Given the description of an element on the screen output the (x, y) to click on. 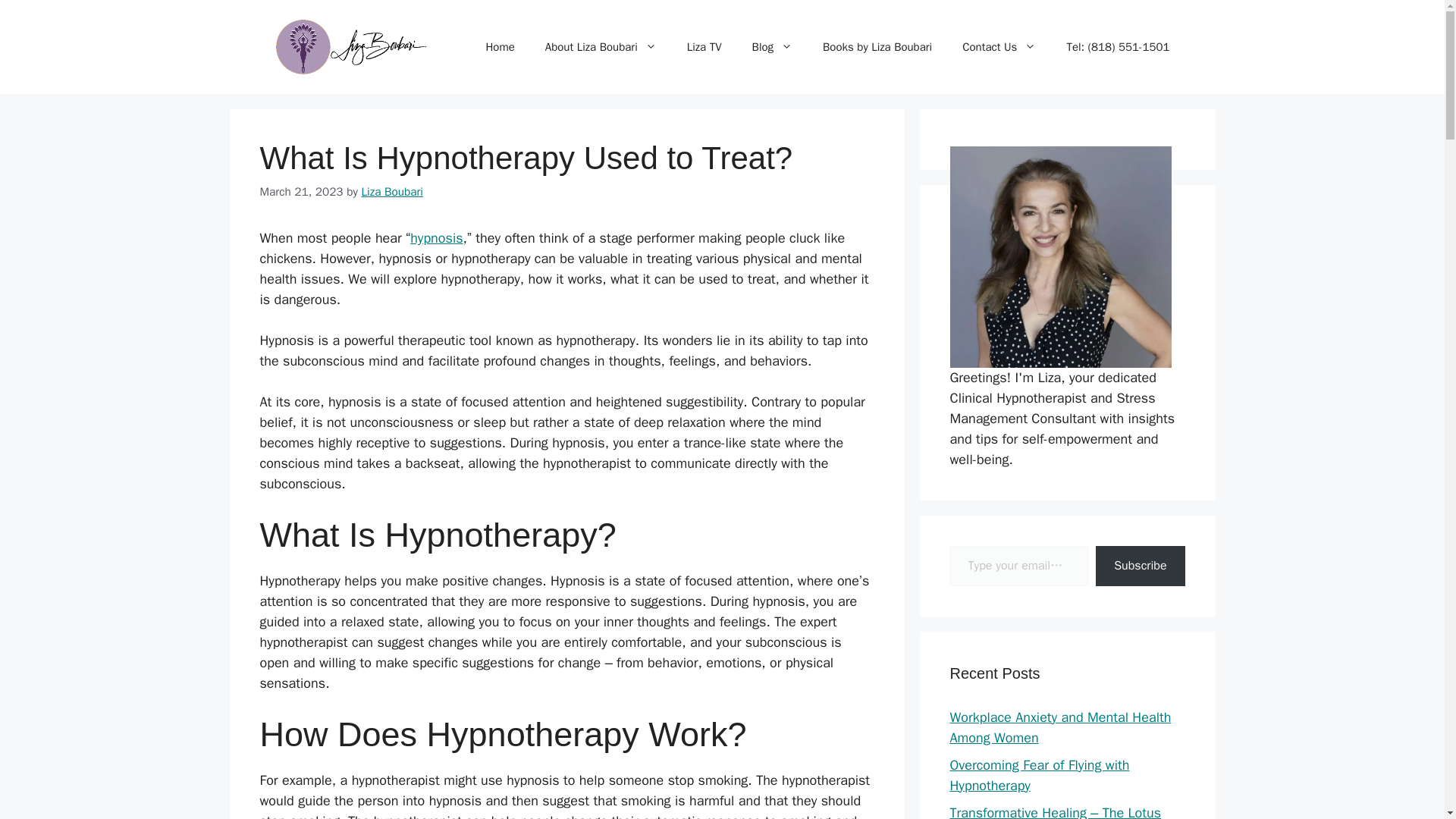
Please fill in this field. (1018, 566)
Liza Boubari (392, 191)
View all posts by Liza Boubari (392, 191)
Subscribe (1140, 566)
Contact Us (999, 46)
hypnosis (436, 238)
About Liza Boubari (600, 46)
Blog (772, 46)
Books by Liza Boubari (877, 46)
Overcoming Fear of Flying with Hypnotherapy (1039, 774)
